Given the description of an element on the screen output the (x, y) to click on. 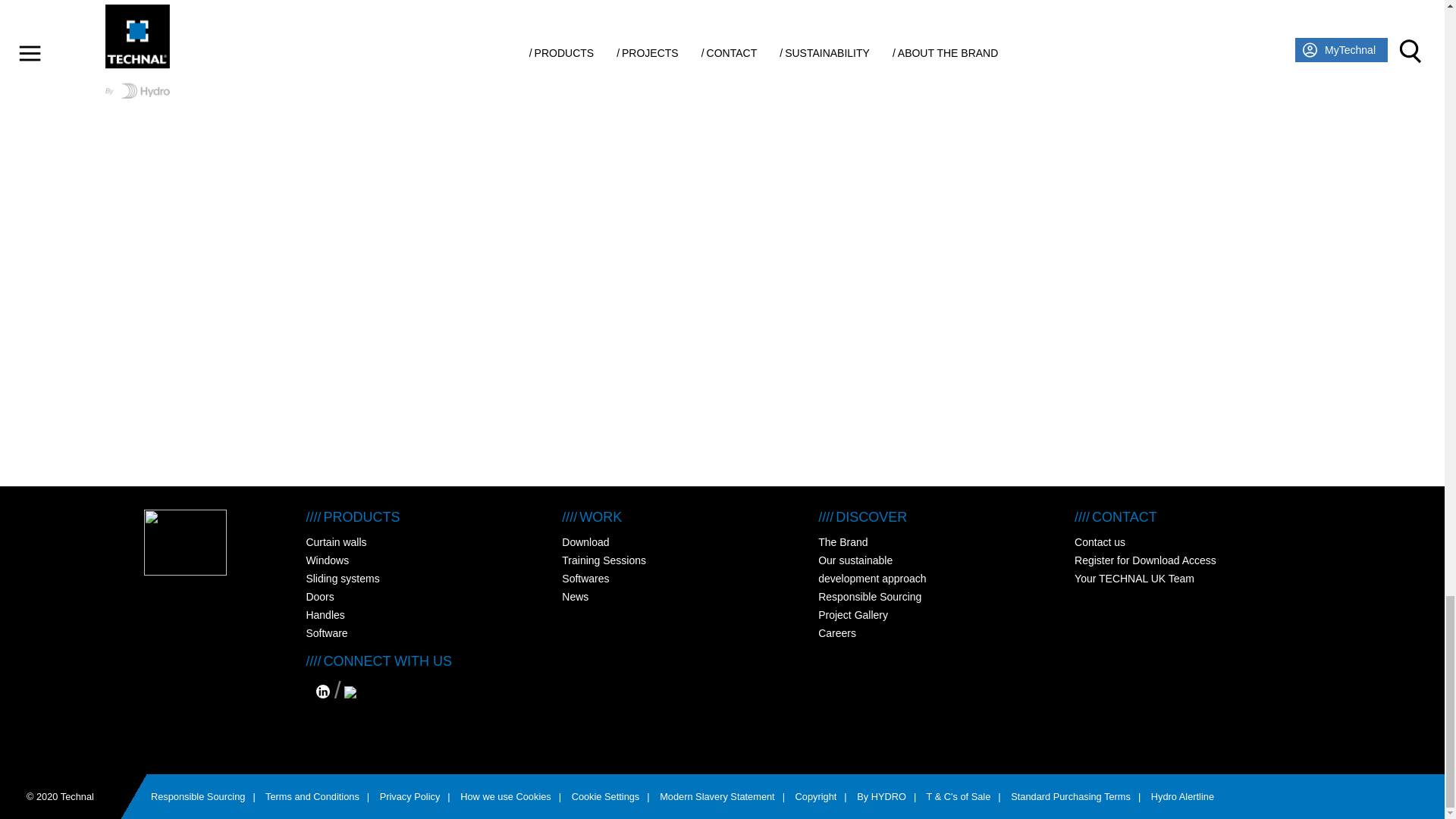
The Brand (842, 541)
Handles (324, 614)
Softwares (585, 578)
Curtain walls (335, 541)
Software (326, 633)
Contact us (1099, 541)
Doors (319, 596)
Your TECHNAL UK Team (1133, 578)
Download (585, 541)
News (575, 596)
